Given the description of an element on the screen output the (x, y) to click on. 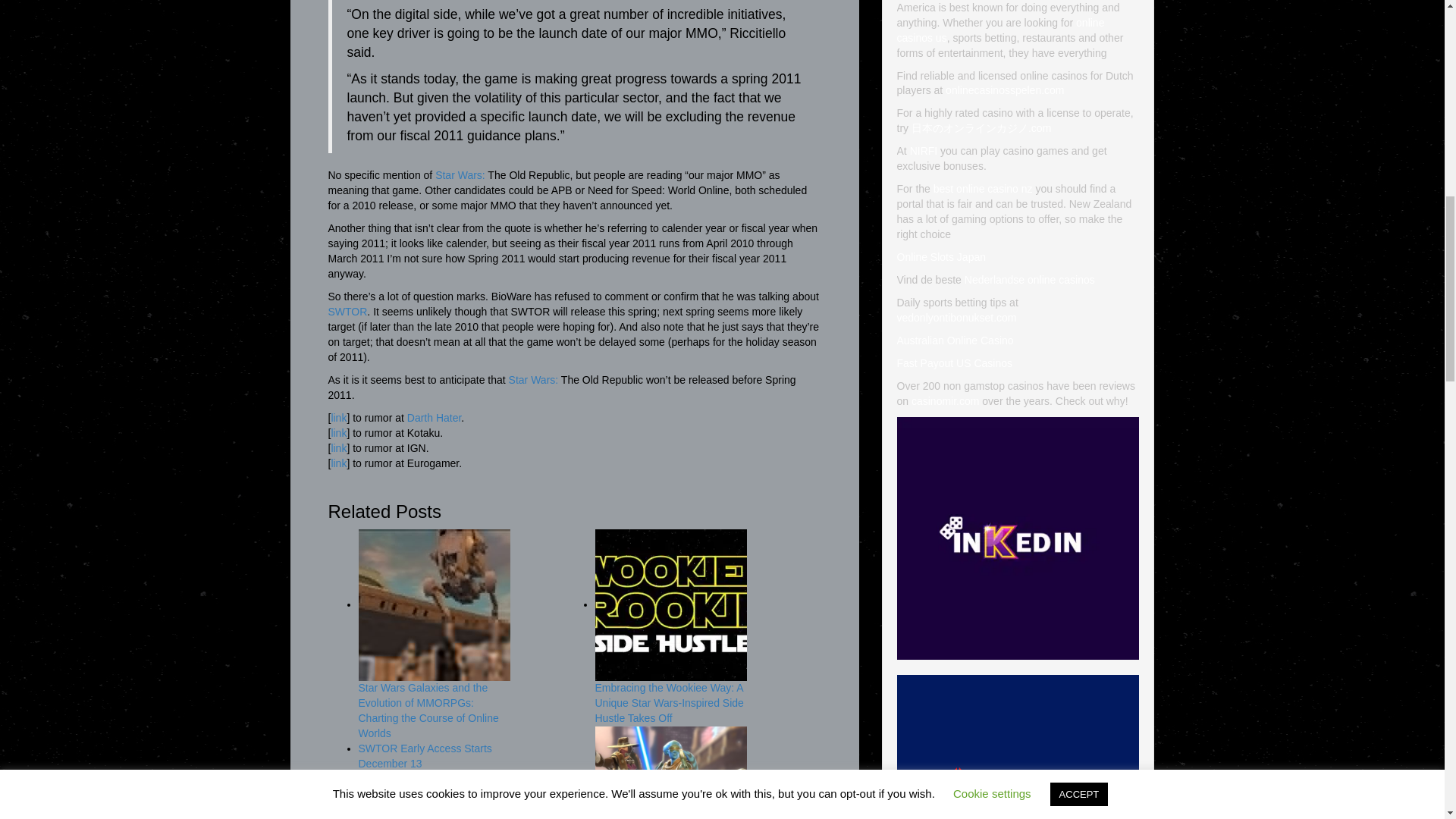
1.3.4 Patch Notes July 24, 2012 (346, 311)
